Given the description of an element on the screen output the (x, y) to click on. 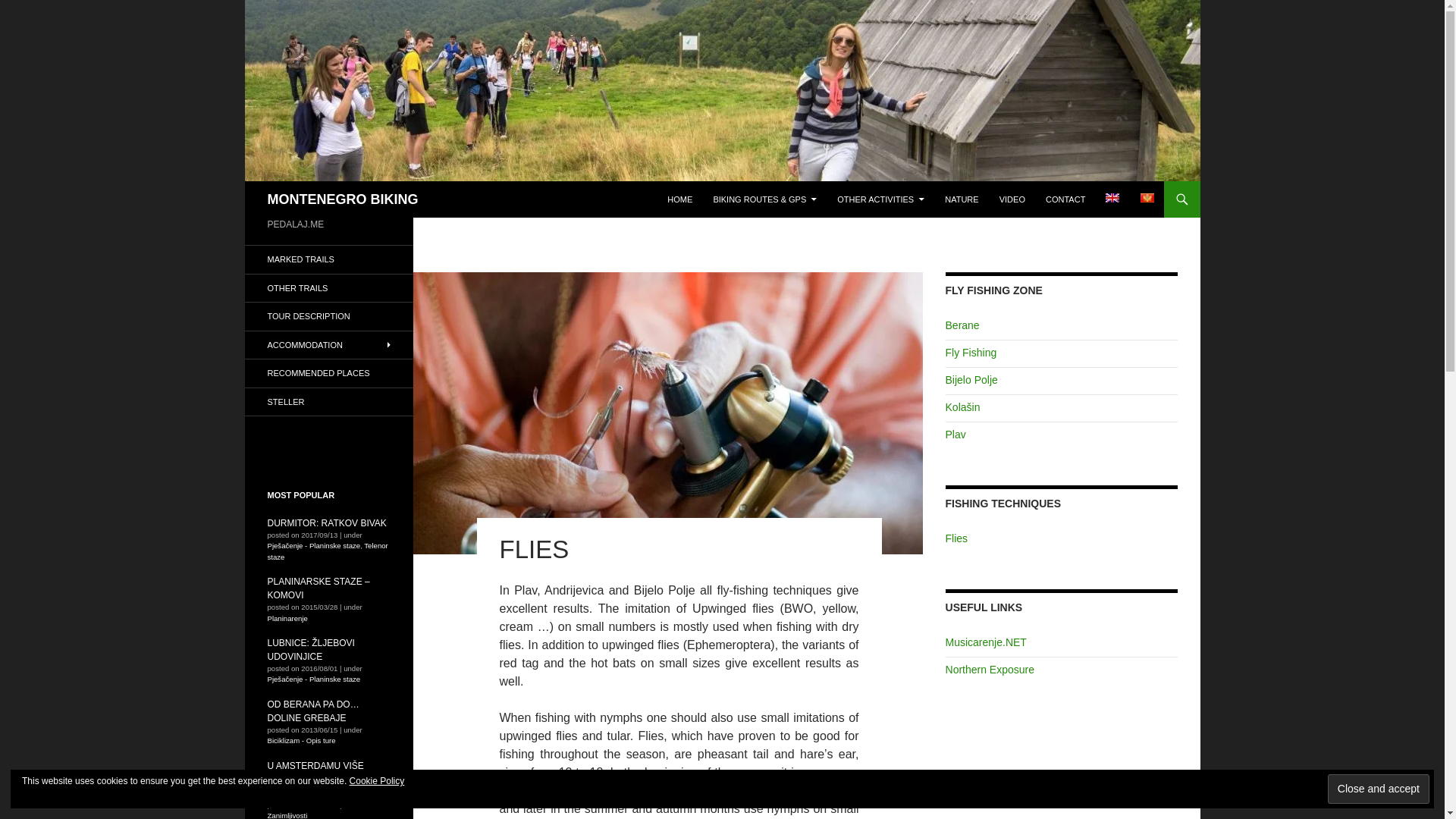
Crnogorski (1147, 197)
Close and accept (1378, 788)
English (1112, 197)
HOME (679, 198)
OTHER ACTIVITIES (880, 198)
MONTENEGRO BIKING (341, 198)
